Given the description of an element on the screen output the (x, y) to click on. 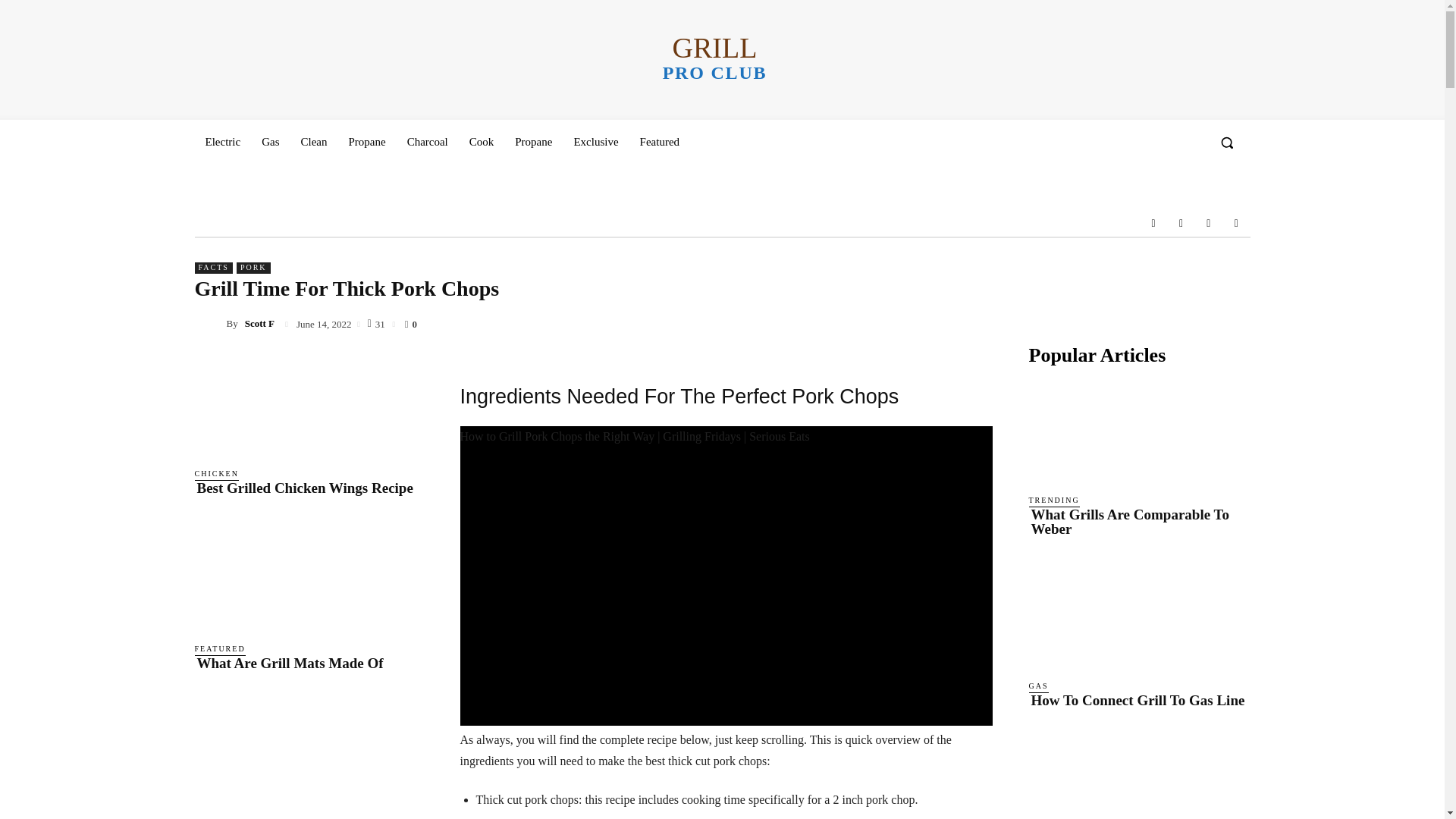
Propane (532, 141)
Electric (221, 141)
Propane (713, 57)
VKontakte (366, 141)
Cook (1209, 222)
Instagram (481, 141)
Featured (1180, 222)
Charcoal (659, 141)
Youtube (427, 141)
Clean (1236, 222)
Facebook (313, 141)
Exclusive (1153, 222)
